Given the description of an element on the screen output the (x, y) to click on. 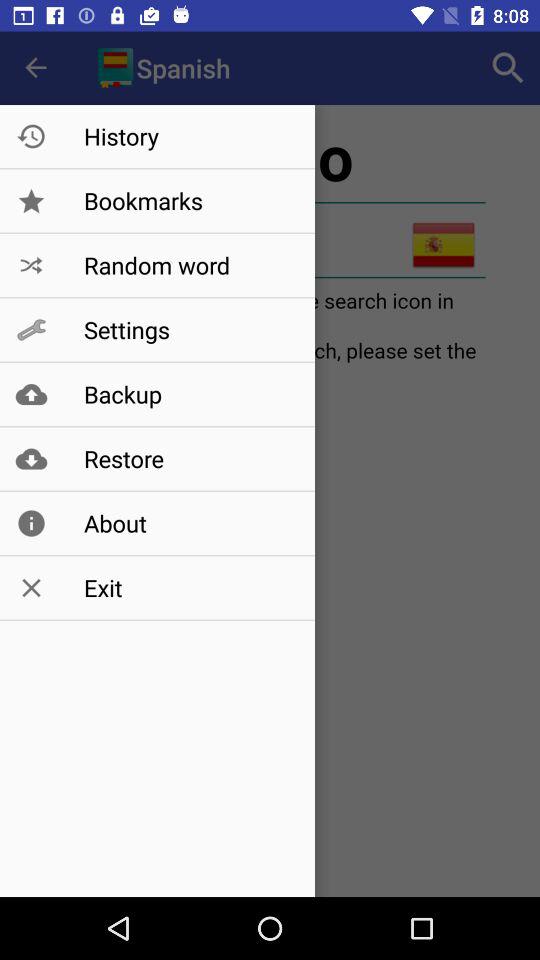
flip until the history icon (188, 136)
